Given the description of an element on the screen output the (x, y) to click on. 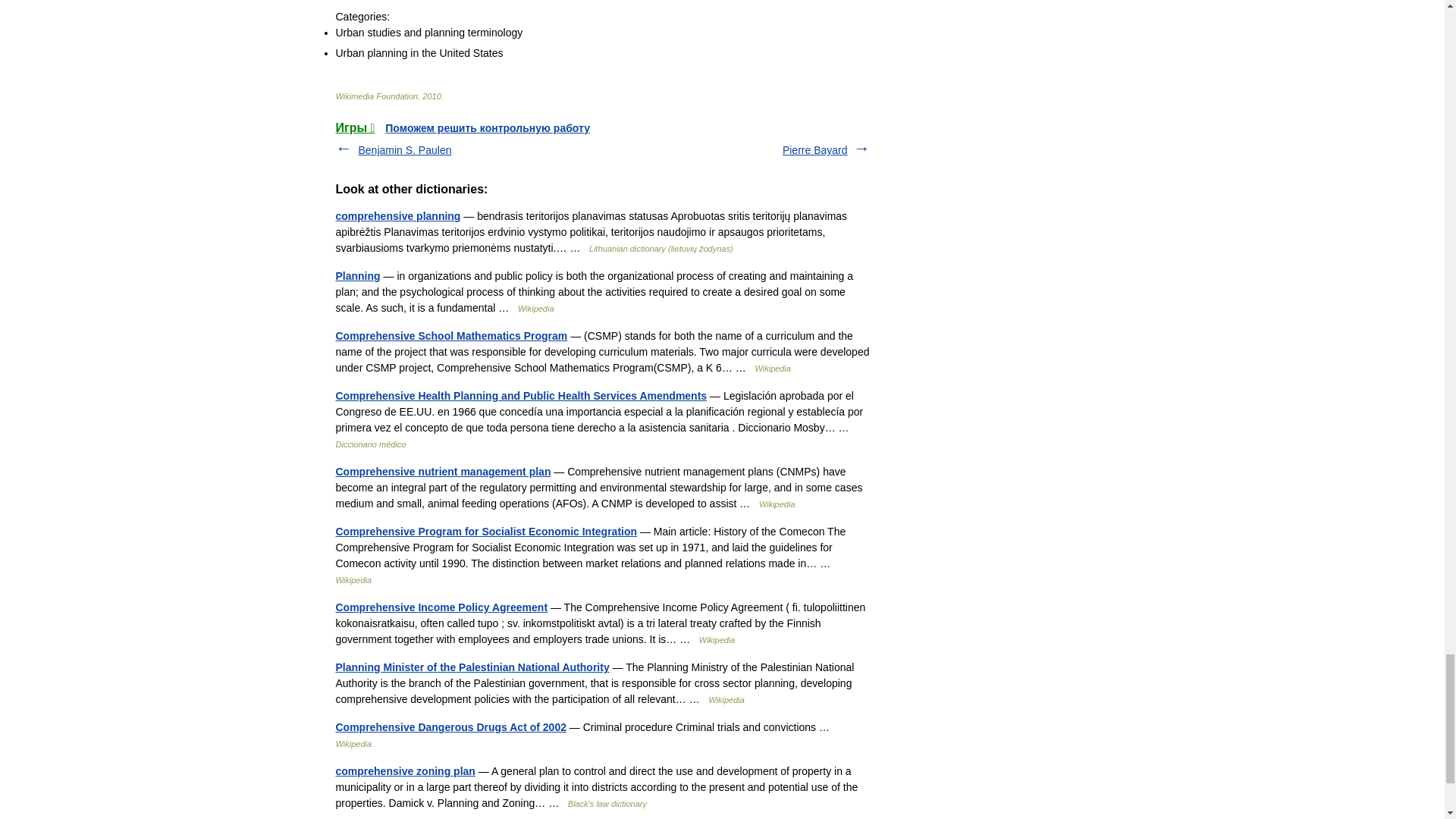
Benjamin S. Paulen (404, 150)
Pierre Bayard (815, 150)
